Given the description of an element on the screen output the (x, y) to click on. 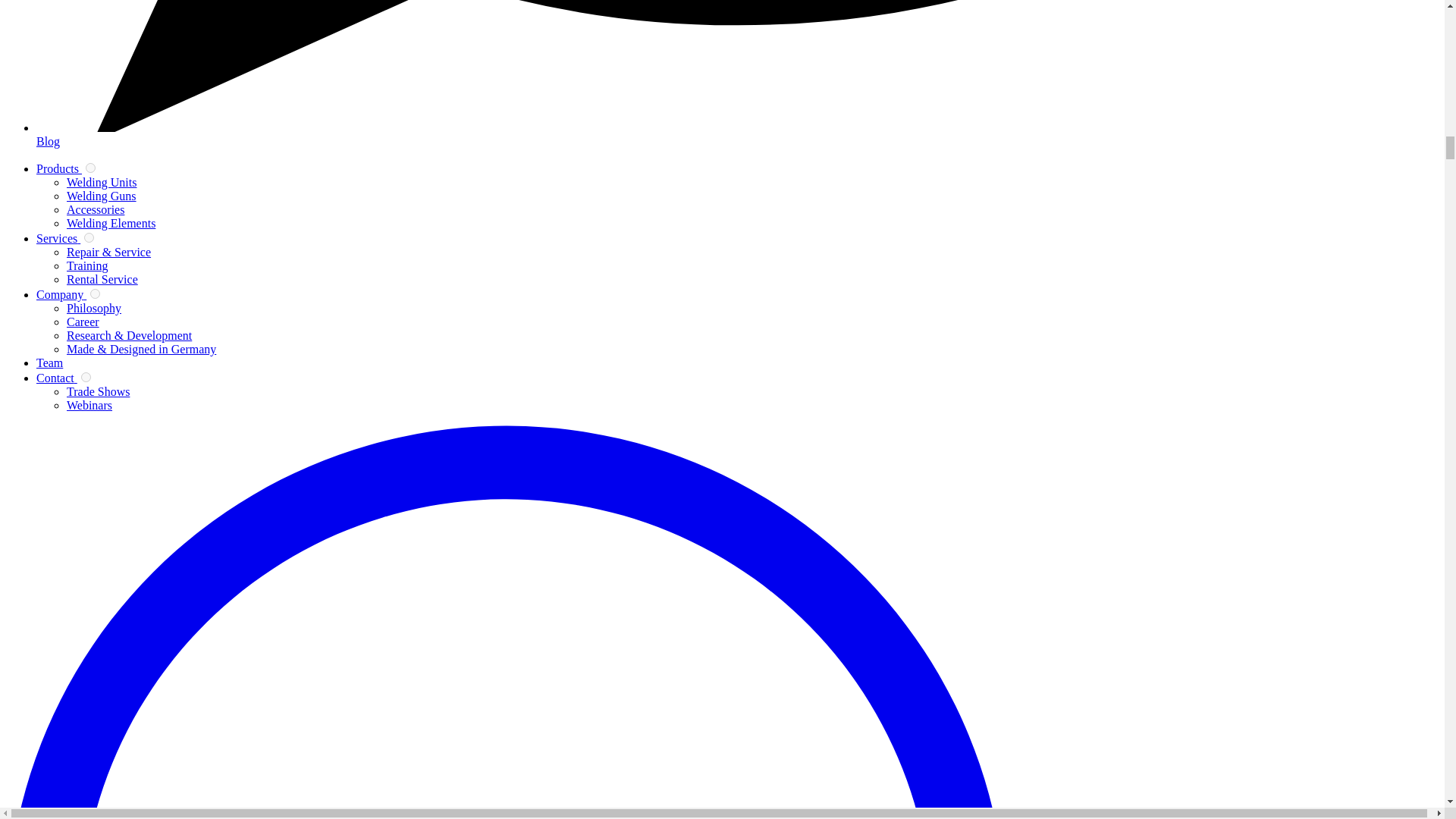
on (90, 167)
Company (60, 294)
Team (49, 362)
Rental Service (102, 278)
Services (58, 237)
Rental Service (102, 278)
Welding Elements (110, 223)
Training (86, 265)
on (95, 293)
Trade Shows (97, 391)
